Given the description of an element on the screen output the (x, y) to click on. 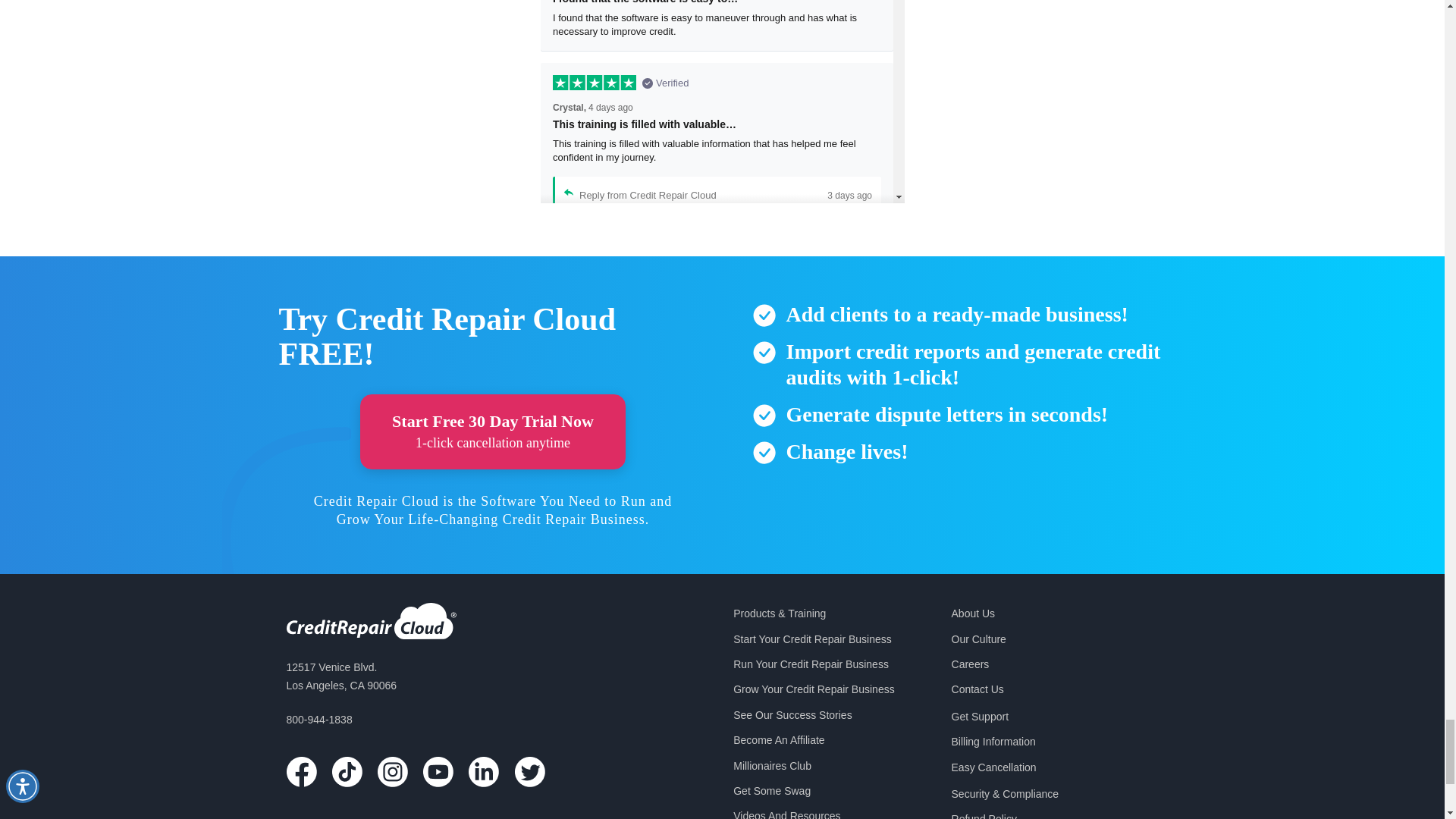
Customer reviews powered by Trustpilot (722, 101)
